Given the description of an element on the screen output the (x, y) to click on. 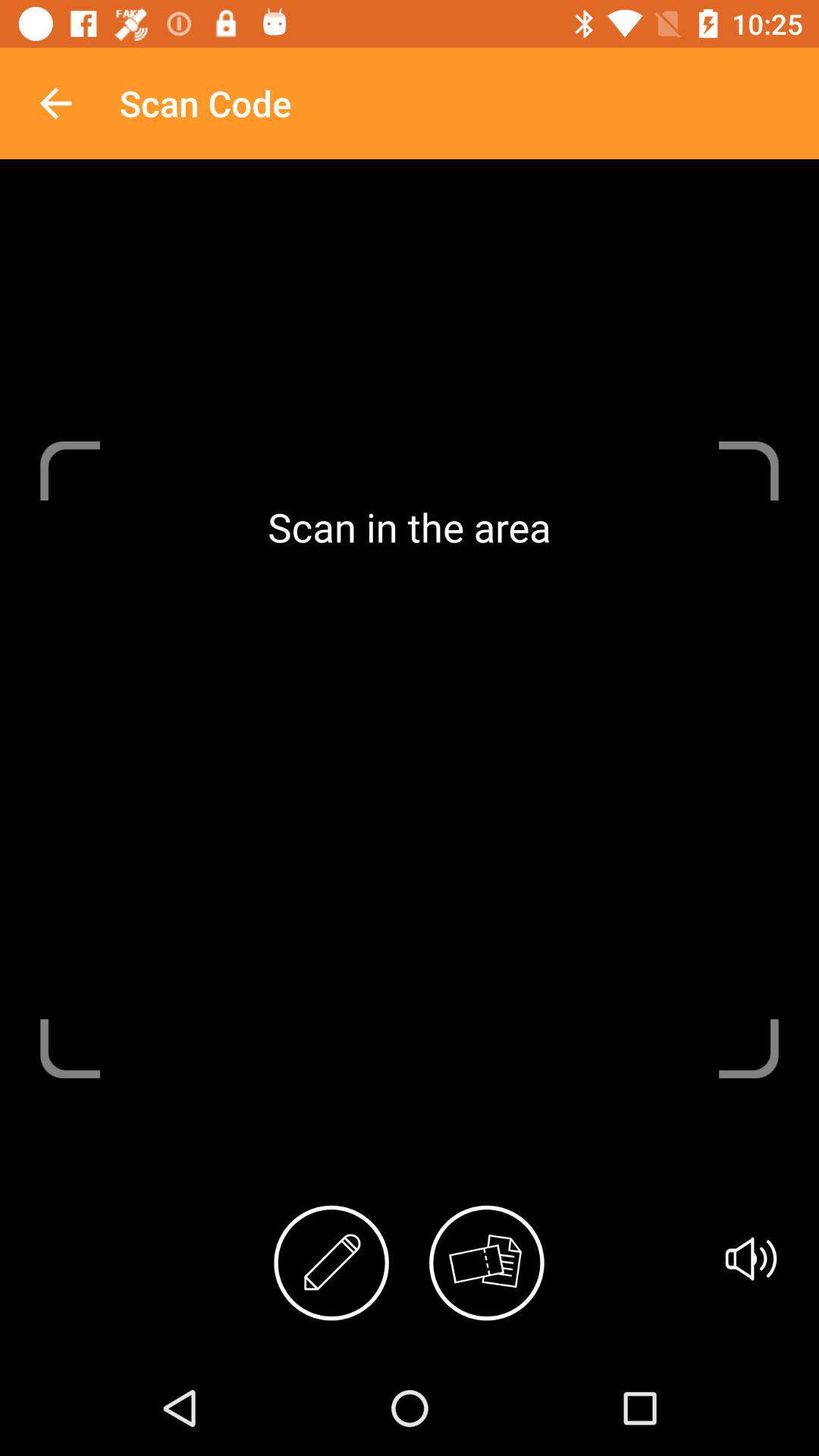
choose app to the left of scan code icon (55, 103)
